Given the description of an element on the screen output the (x, y) to click on. 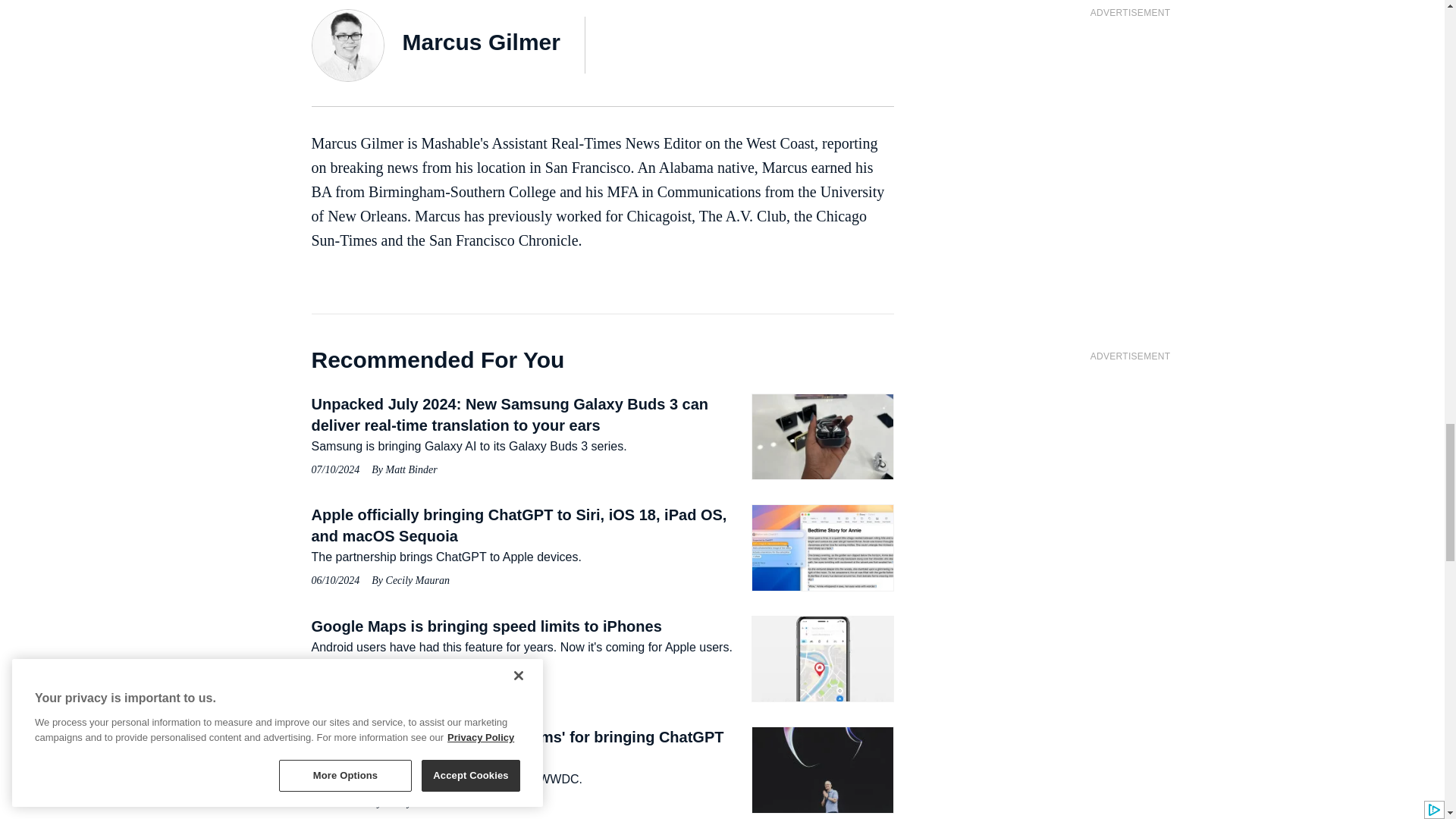
3rd party ad content (1129, 466)
